Given the description of an element on the screen output the (x, y) to click on. 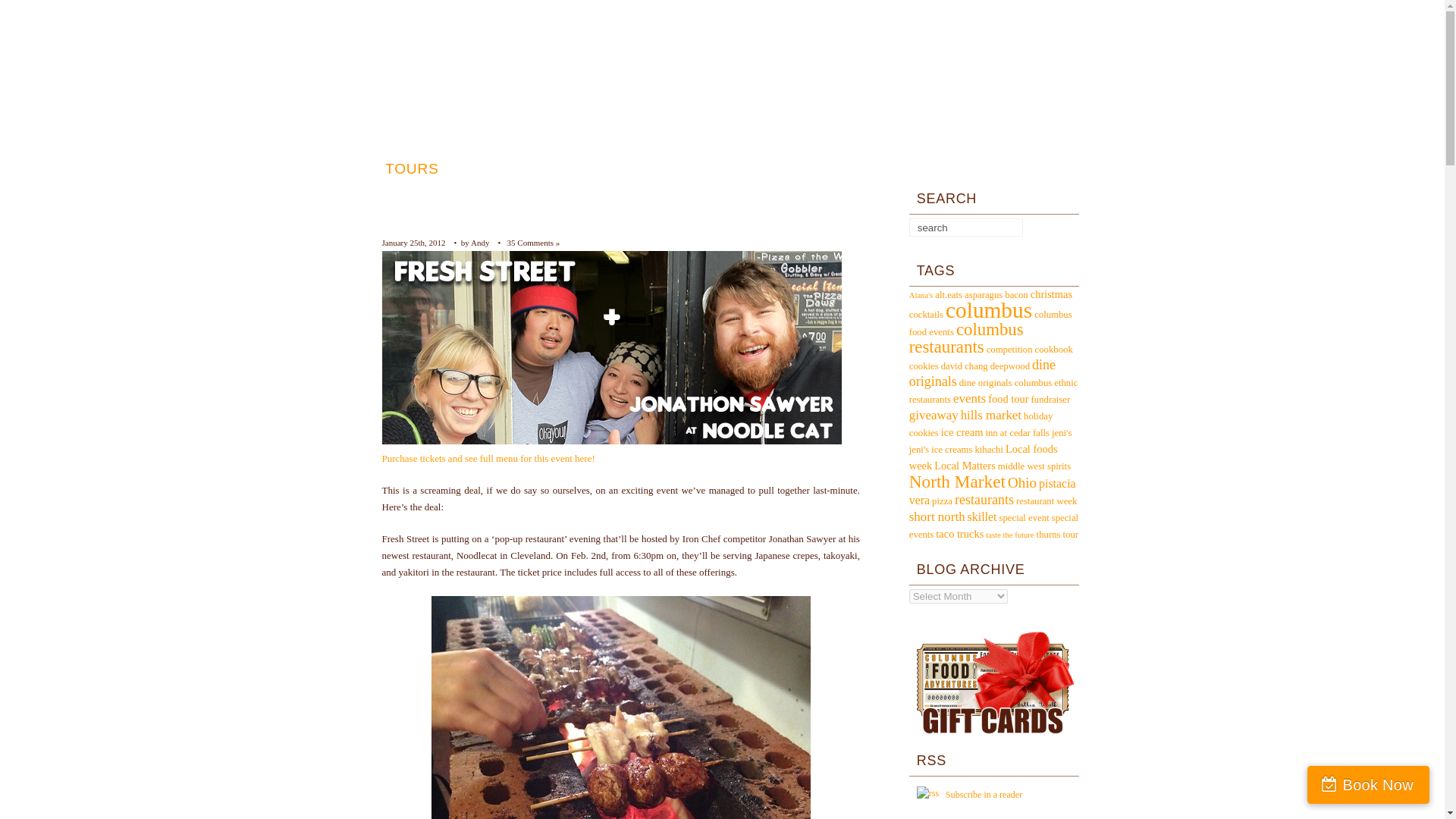
BLOG (1014, 168)
FAQs (873, 168)
Purchase tickets and see full menu for this event here! (488, 458)
search (957, 228)
Home (719, 91)
Subscribe to my feed (983, 794)
ABOUT (943, 168)
PRIVATE EVENTS (531, 168)
GIFT BOXES (784, 168)
search (957, 228)
